Given the description of an element on the screen output the (x, y) to click on. 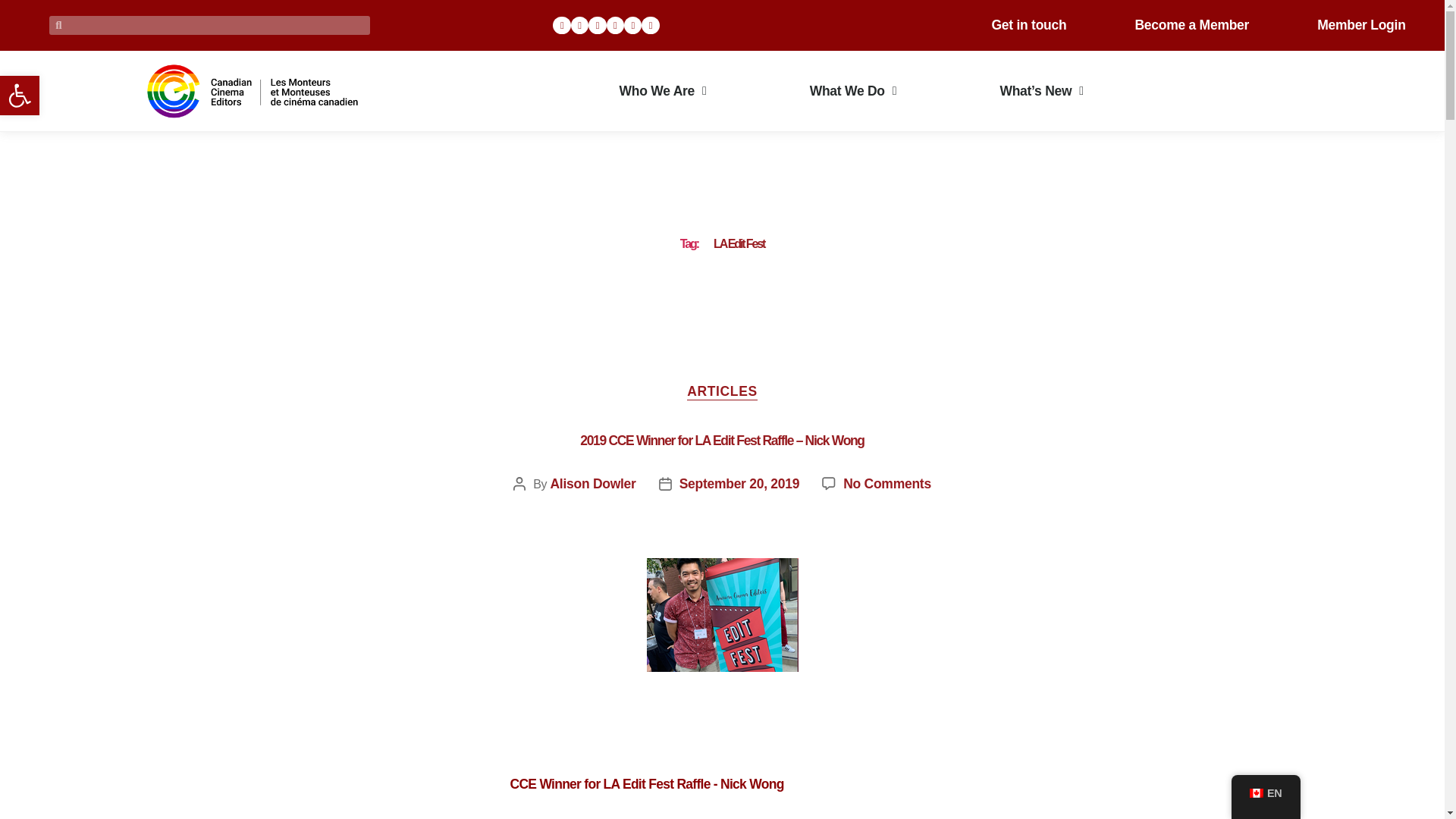
What We Do (852, 90)
Get in touch (1028, 24)
Who We Are (662, 90)
Become a Member (1191, 24)
Member Login (1360, 24)
Open toolbar (19, 95)
Accessibility Tools (19, 95)
